Given the description of an element on the screen output the (x, y) to click on. 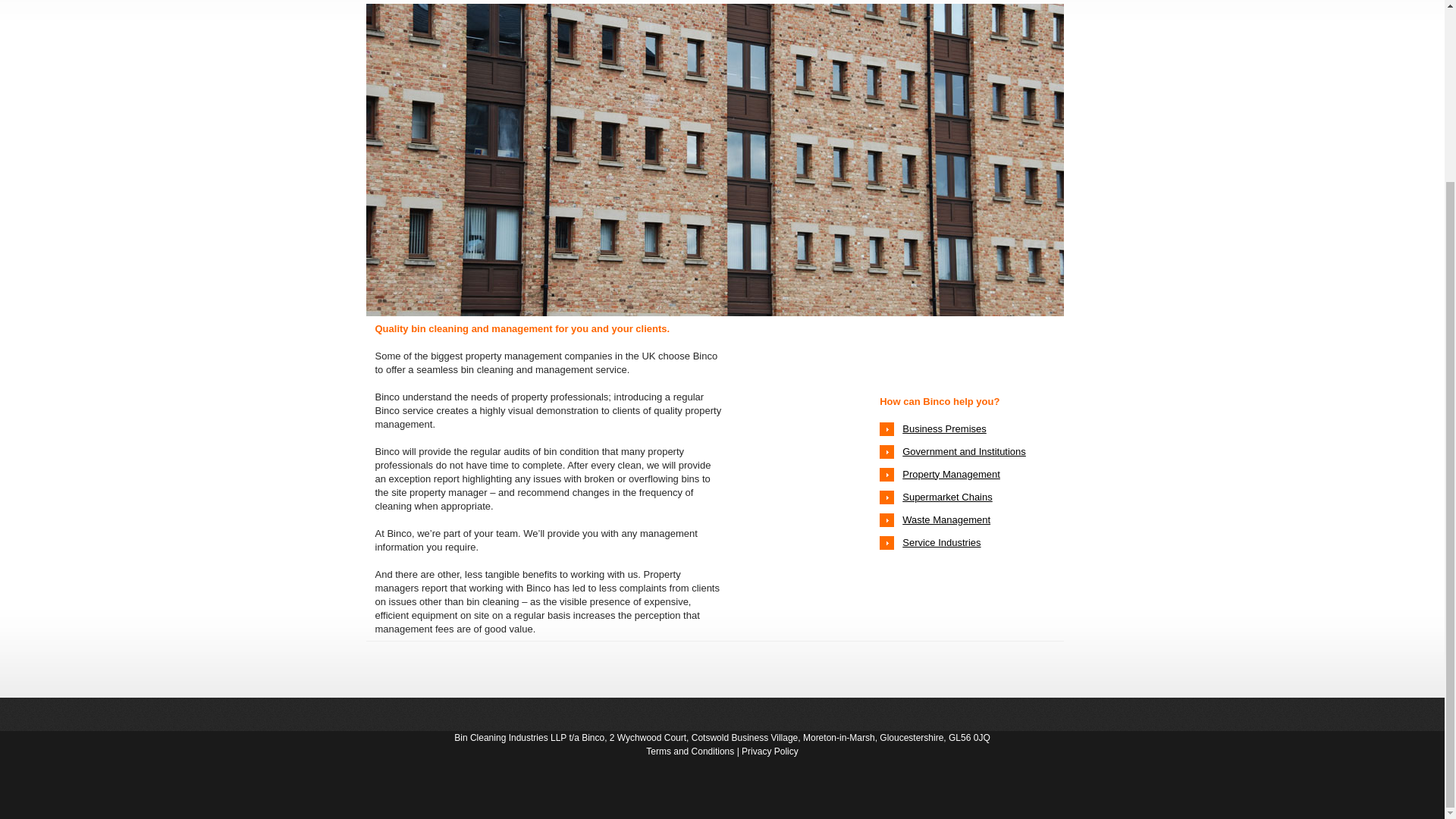
Waste Management (946, 520)
Property Management (951, 473)
Supermarket Chains (947, 497)
Business premises (944, 428)
Supermarkets (947, 497)
Service Industries (940, 542)
Service Industries (940, 542)
Government and Institutions (964, 450)
Waste Management (946, 520)
Government and Institutions (964, 450)
Property Management (951, 473)
Business Premises (944, 428)
